Given the description of an element on the screen output the (x, y) to click on. 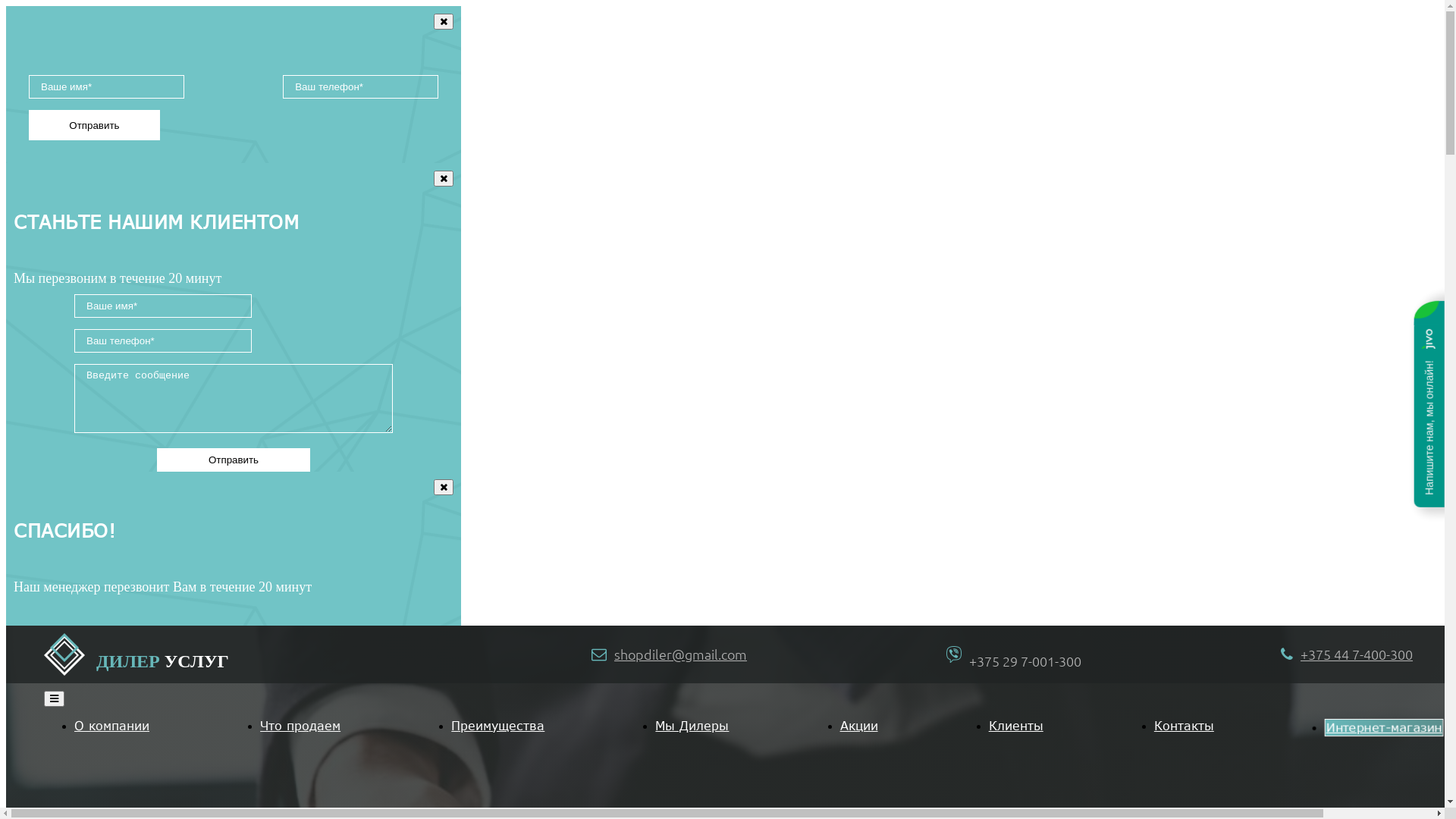
+375 44 7-400-300 Element type: text (1356, 654)
shopdiler@gmail.com Element type: text (680, 654)
